Given the description of an element on the screen output the (x, y) to click on. 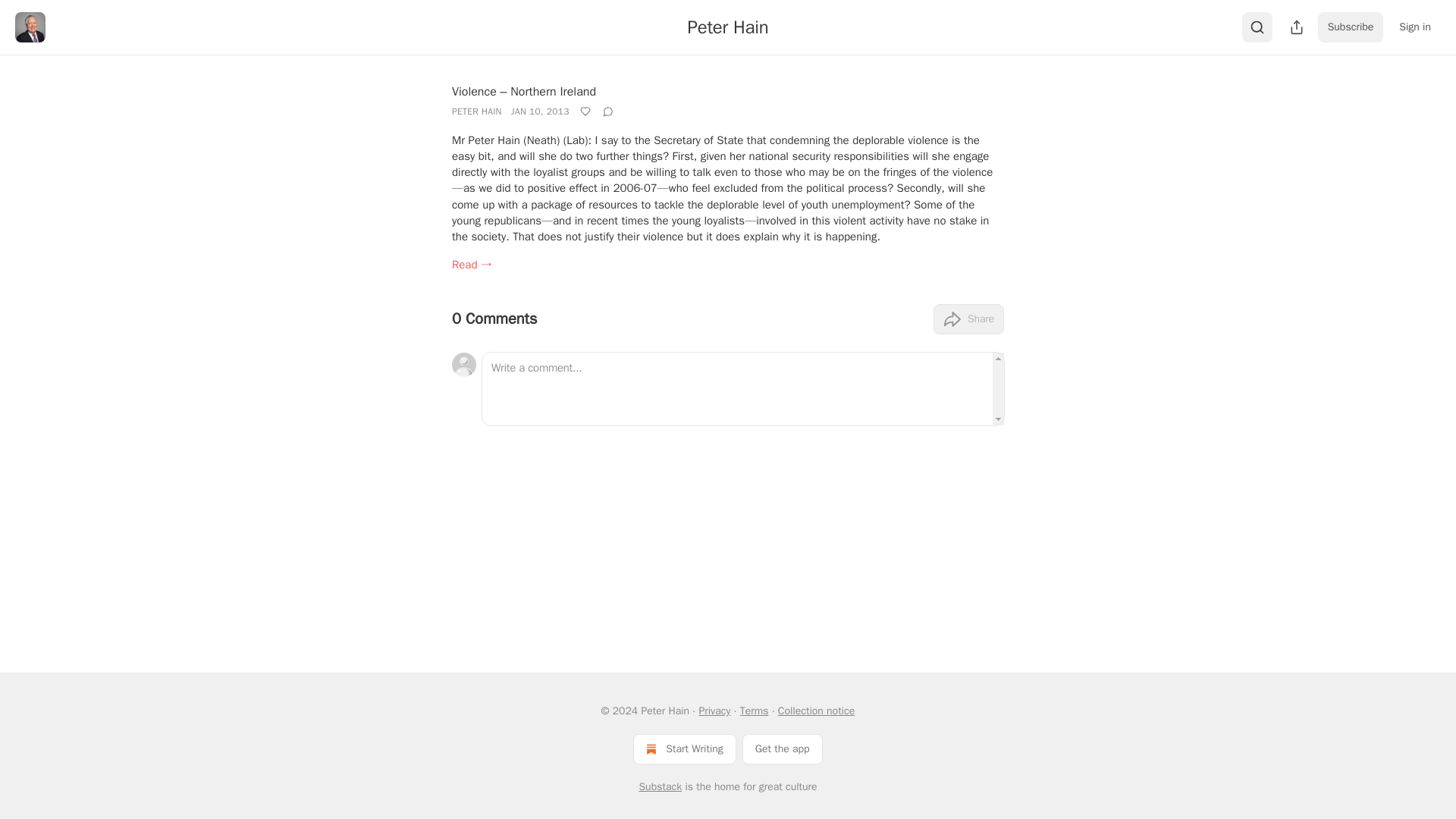
Start Writing (684, 748)
2013-01-10T10:33:02.000Z (540, 111)
Terms (753, 710)
Sign in (1415, 27)
Substack (660, 786)
Peter Hain (727, 26)
Get the app (782, 748)
PETER HAIN (476, 111)
Share (968, 318)
Privacy (714, 710)
Collection notice (815, 710)
Subscribe (1350, 27)
